Given the description of an element on the screen output the (x, y) to click on. 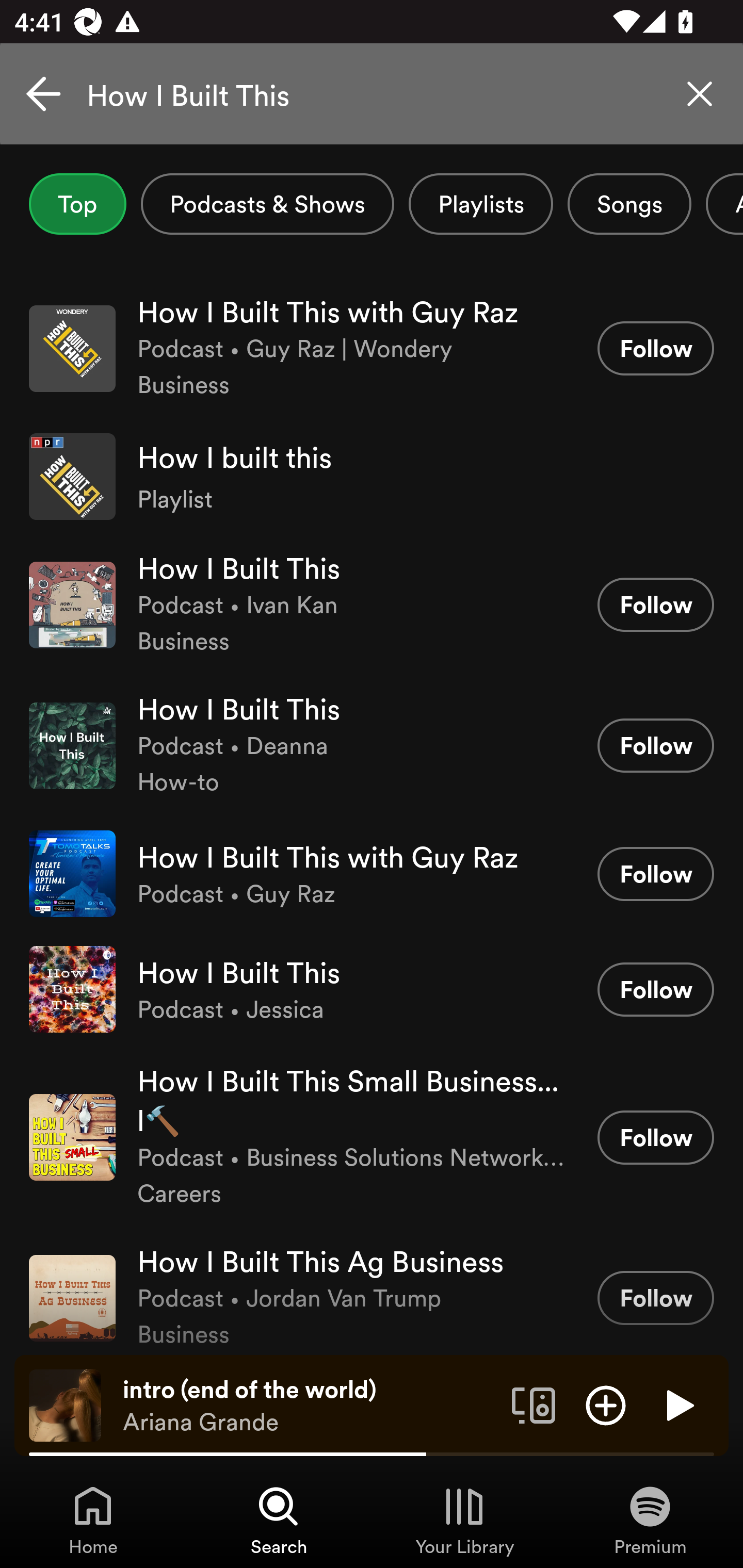
How I Built This (371, 93)
Cancel (43, 93)
Clear search query (699, 93)
Top (77, 203)
Podcasts & Shows (267, 203)
Playlists (480, 203)
Songs (629, 203)
Follow (655, 347)
How I built this Playlist (371, 476)
Follow (655, 604)
Follow (655, 745)
Follow (655, 873)
How I Built This  Podcast • Jessica Follow Follow (371, 989)
Follow (655, 989)
Follow (655, 1137)
Follow (655, 1297)
intro (end of the world) Ariana Grande (309, 1405)
The cover art of the currently playing track (64, 1404)
Connect to a device. Opens the devices menu (533, 1404)
Add item (605, 1404)
Play (677, 1404)
Home, Tab 1 of 4 Home Home (92, 1519)
Search, Tab 2 of 4 Search Search (278, 1519)
Your Library, Tab 3 of 4 Your Library Your Library (464, 1519)
Premium, Tab 4 of 4 Premium Premium (650, 1519)
